Given the description of an element on the screen output the (x, y) to click on. 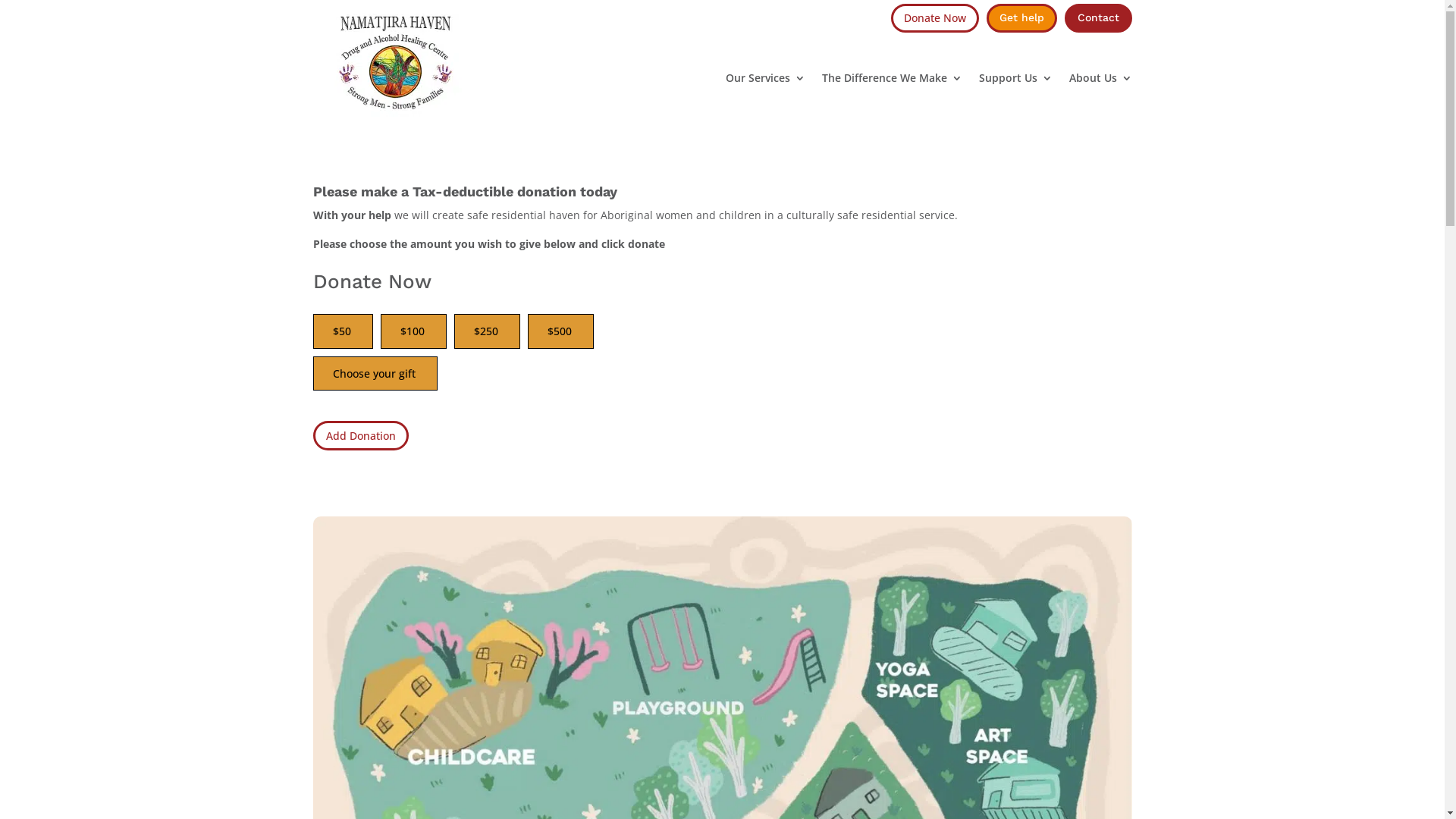
Donate Now Element type: text (934, 17)
Our Services Element type: text (764, 77)
The Difference We Make Element type: text (892, 77)
Add Donation Element type: text (359, 434)
Get help Element type: text (1020, 17)
Contact Element type: text (1098, 17)
Support Us Element type: text (1014, 77)
About Us Element type: text (1100, 77)
